Given the description of an element on the screen output the (x, y) to click on. 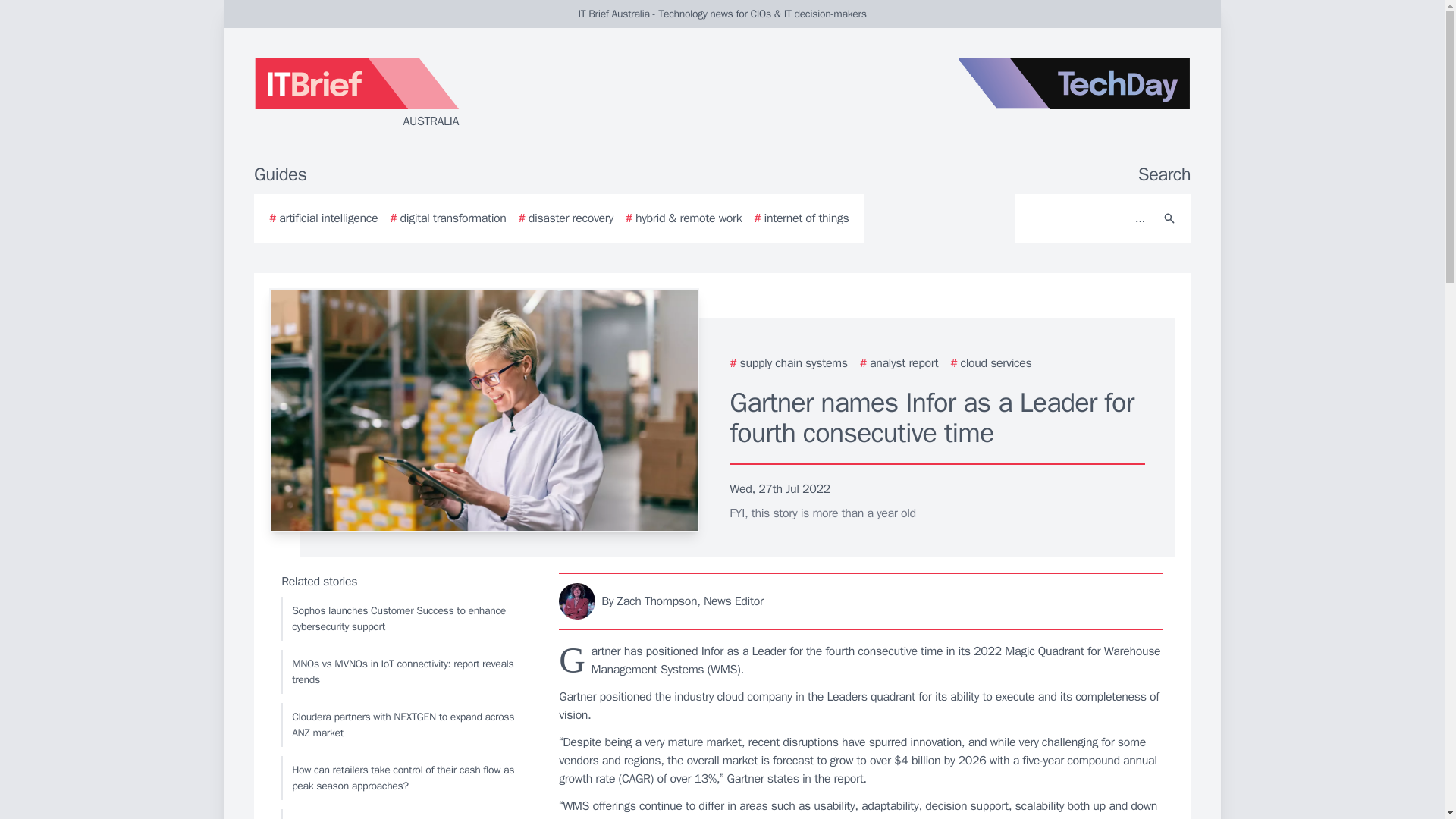
Cloudera partners with NEXTGEN to expand across ANZ market (406, 724)
AUSTRALIA (435, 94)
MNOs vs MVNOs in IoT connectivity: report reveals trends (406, 671)
By Zach Thompson, News Editor (861, 601)
